Given the description of an element on the screen output the (x, y) to click on. 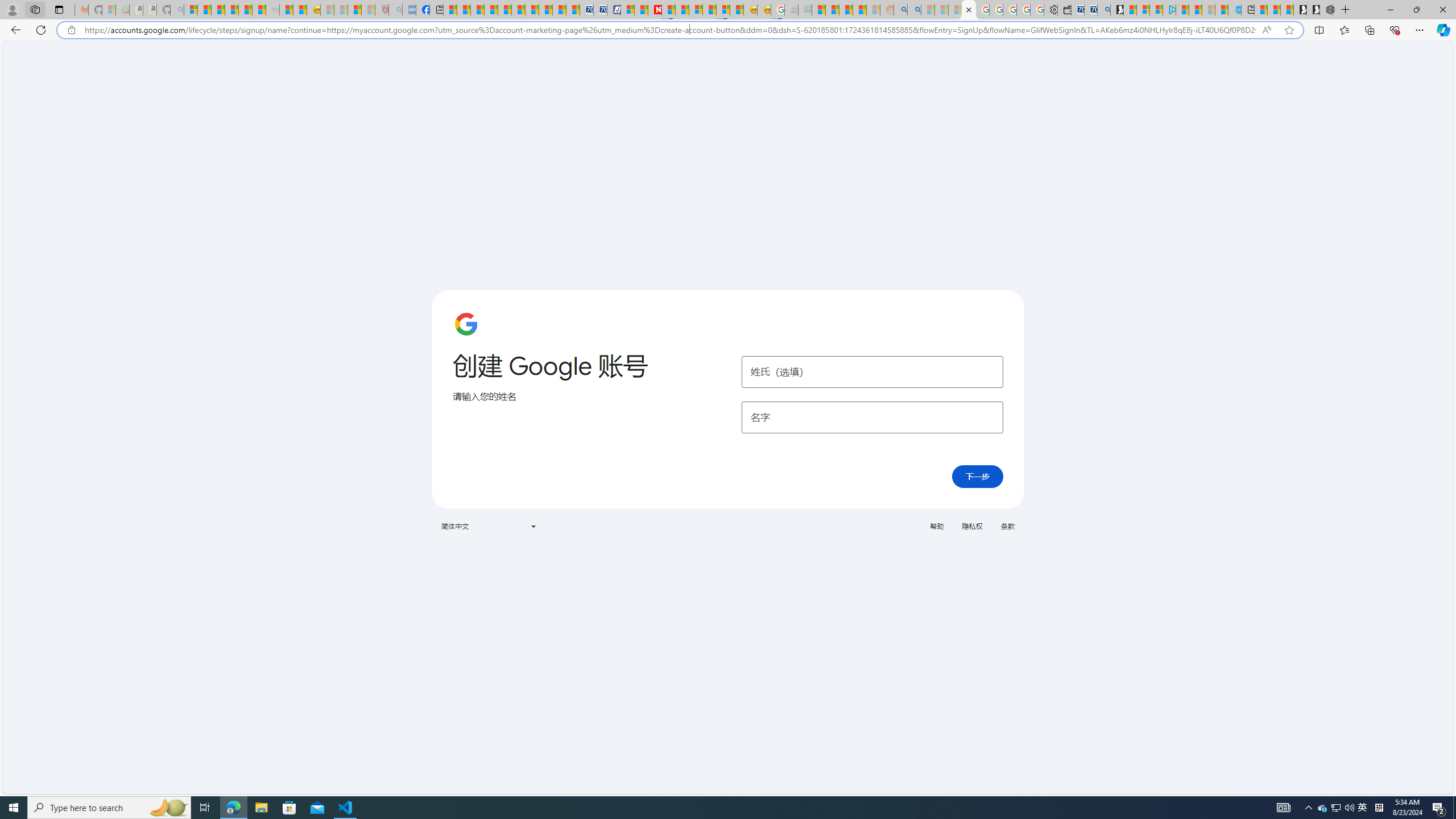
Bing Real Estate - Home sales and rental listings (1103, 9)
Cheap Hotels - Save70.com (599, 9)
